Given the description of an element on the screen output the (x, y) to click on. 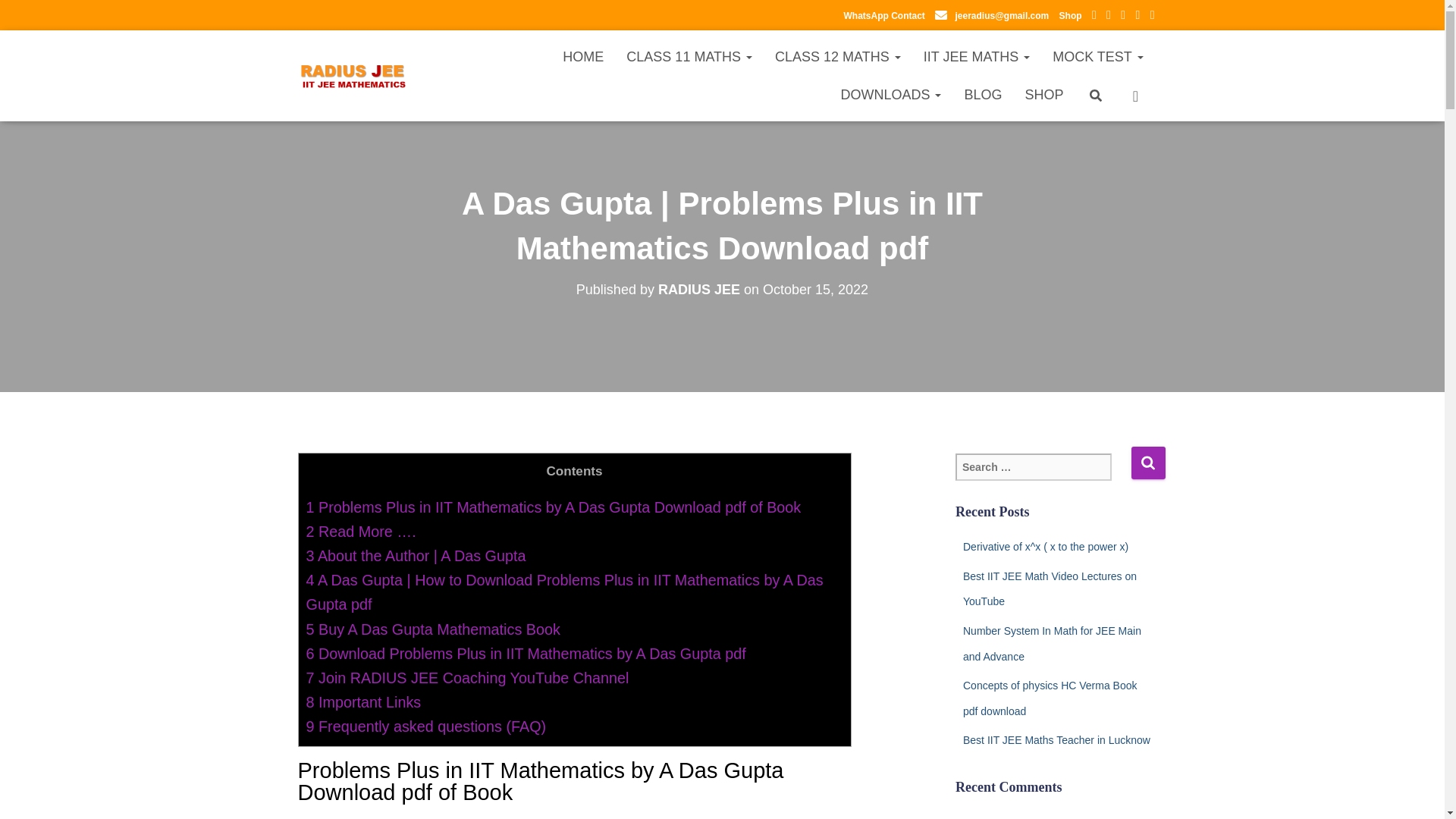
WhatsApp Contact (883, 15)
Home (582, 56)
HOME (582, 56)
Search (1148, 462)
MOCK TEST (1097, 56)
Class 11 Maths (688, 56)
IIT JEE MATHS (976, 56)
WhatsApp Contact (883, 15)
RADIUS JEE (352, 75)
DOWNLOADS (890, 94)
CLASS 12 MATHS (837, 56)
CLASS 11 MATHS (688, 56)
Search (1148, 462)
